Given the description of an element on the screen output the (x, y) to click on. 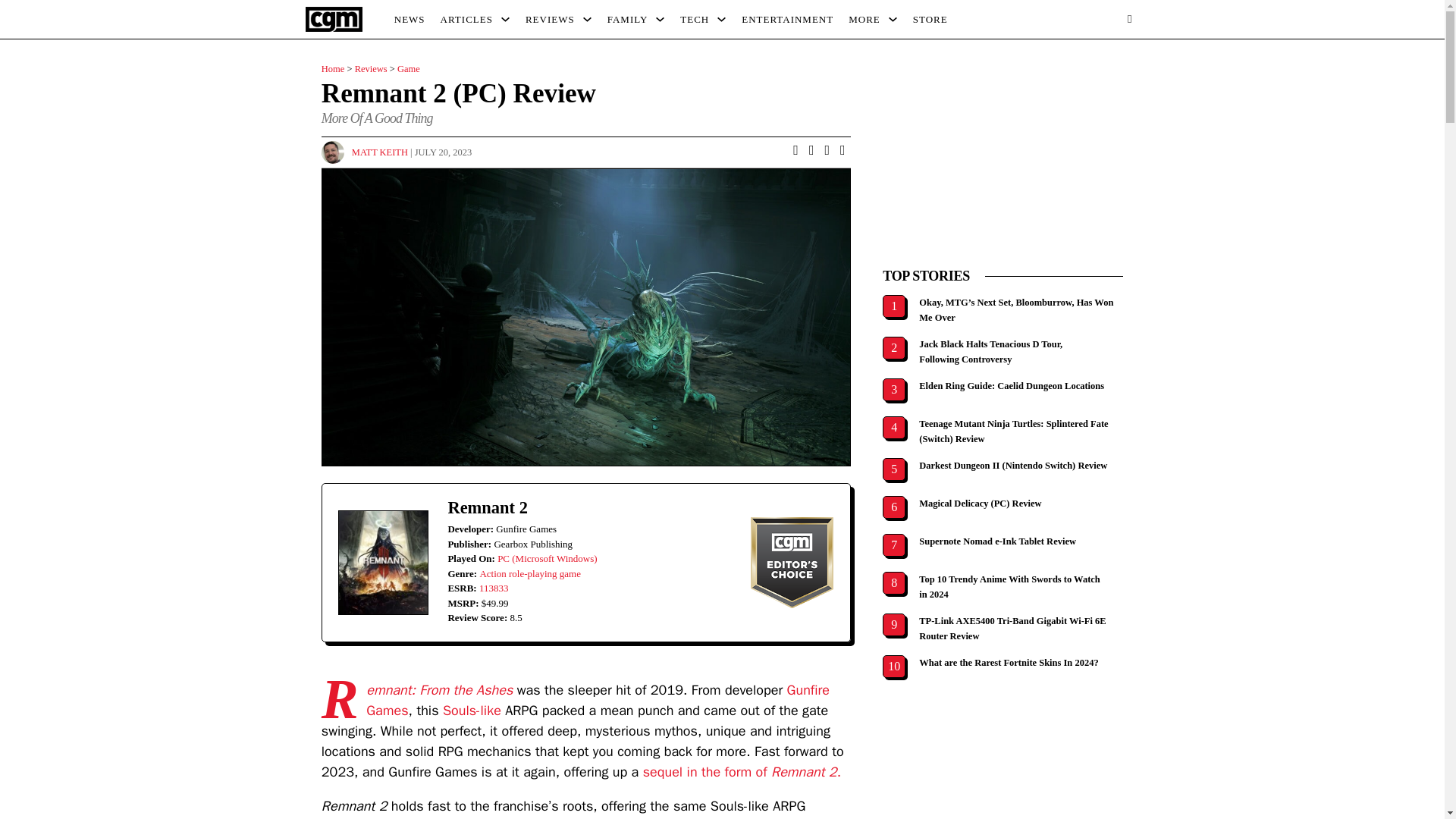
Matt Keith (379, 152)
